Given the description of an element on the screen output the (x, y) to click on. 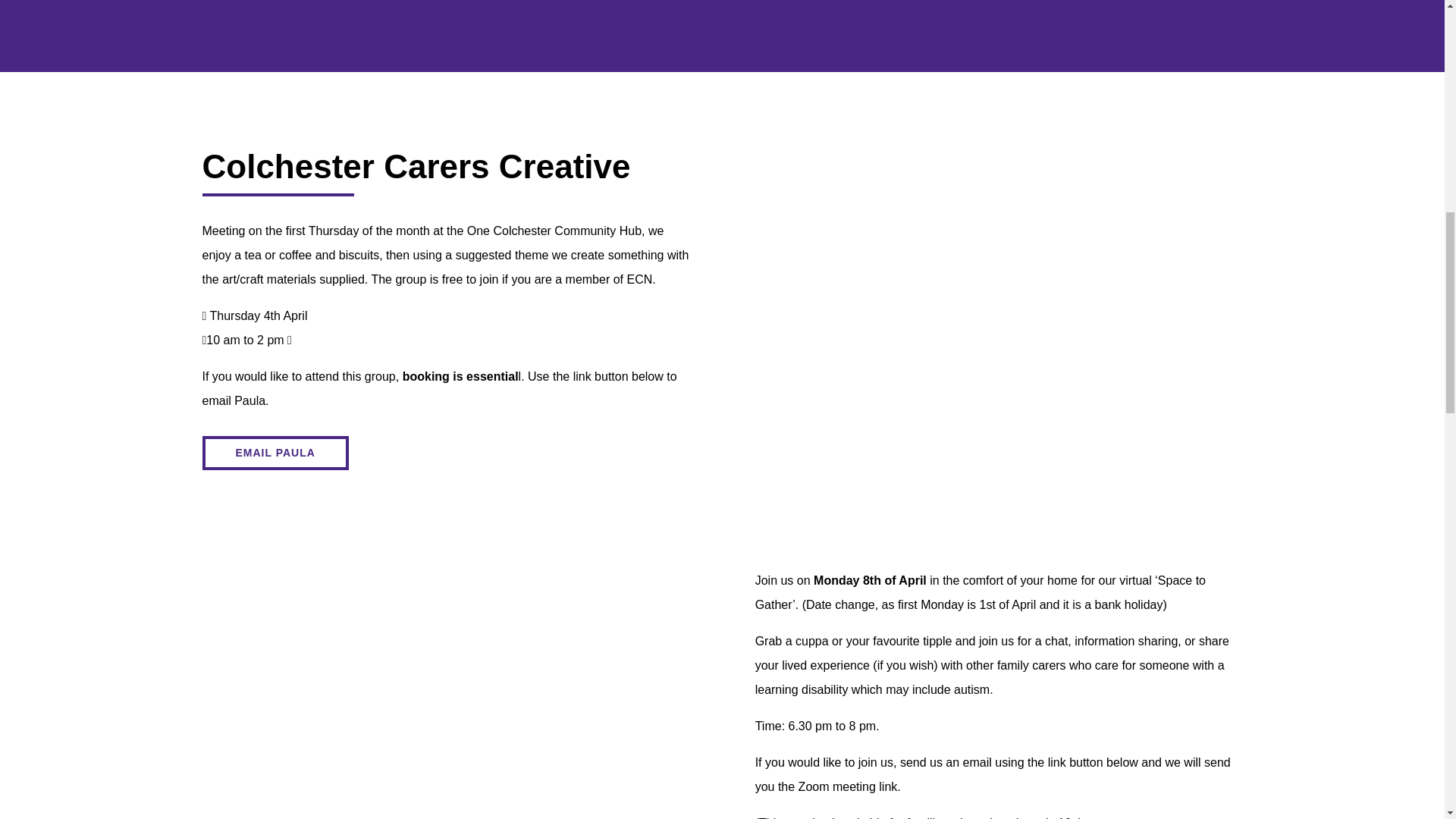
EMAIL PAULA (274, 452)
